Given the description of an element on the screen output the (x, y) to click on. 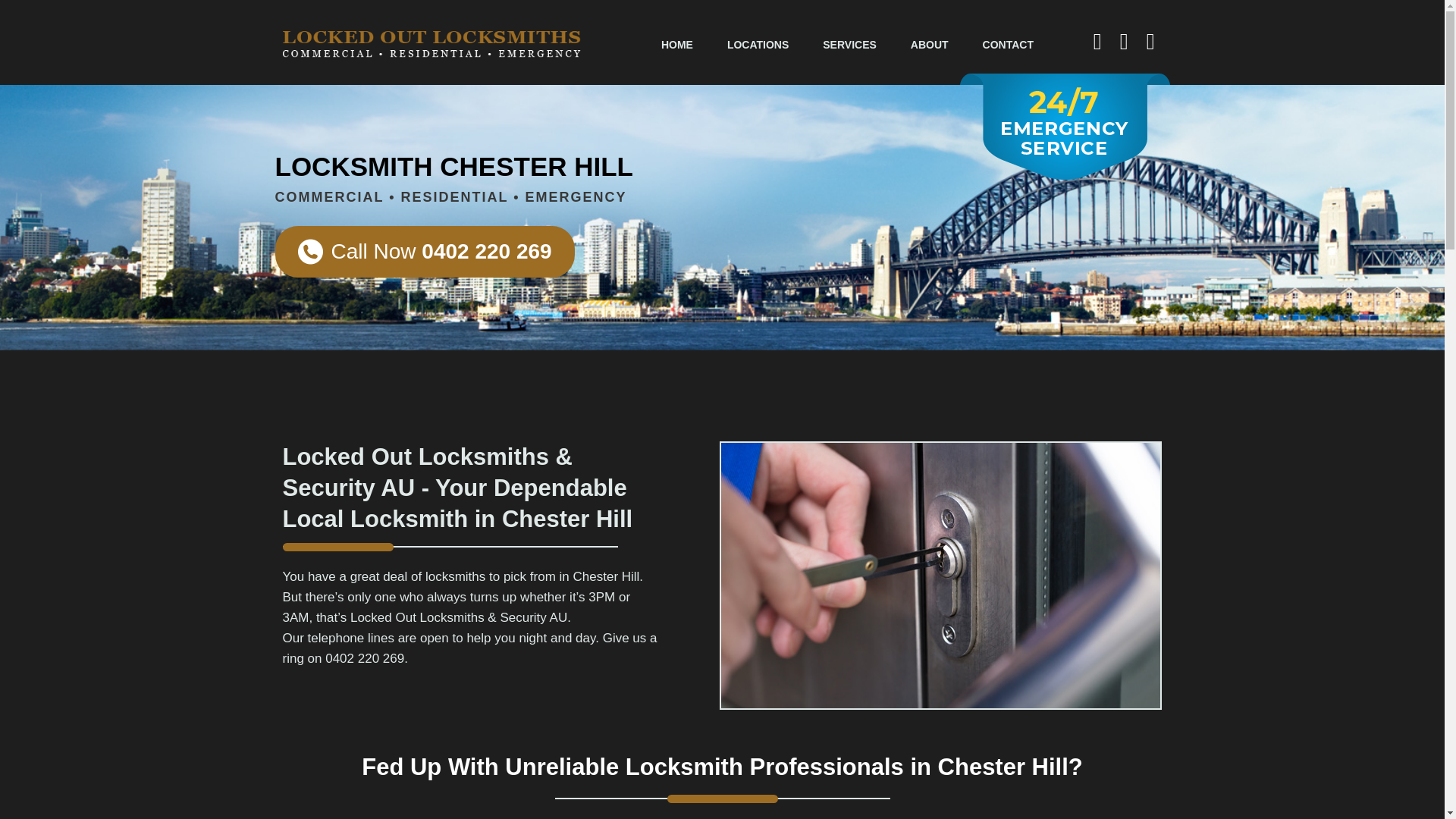
LOCATIONS (757, 43)
SERVICES (849, 43)
CONTACT (1008, 43)
lockout locksmith service (940, 575)
ABOUT (929, 43)
HOME (676, 43)
0402 220 269 (364, 658)
Call Now 0402 220 269 (424, 251)
